Given the description of an element on the screen output the (x, y) to click on. 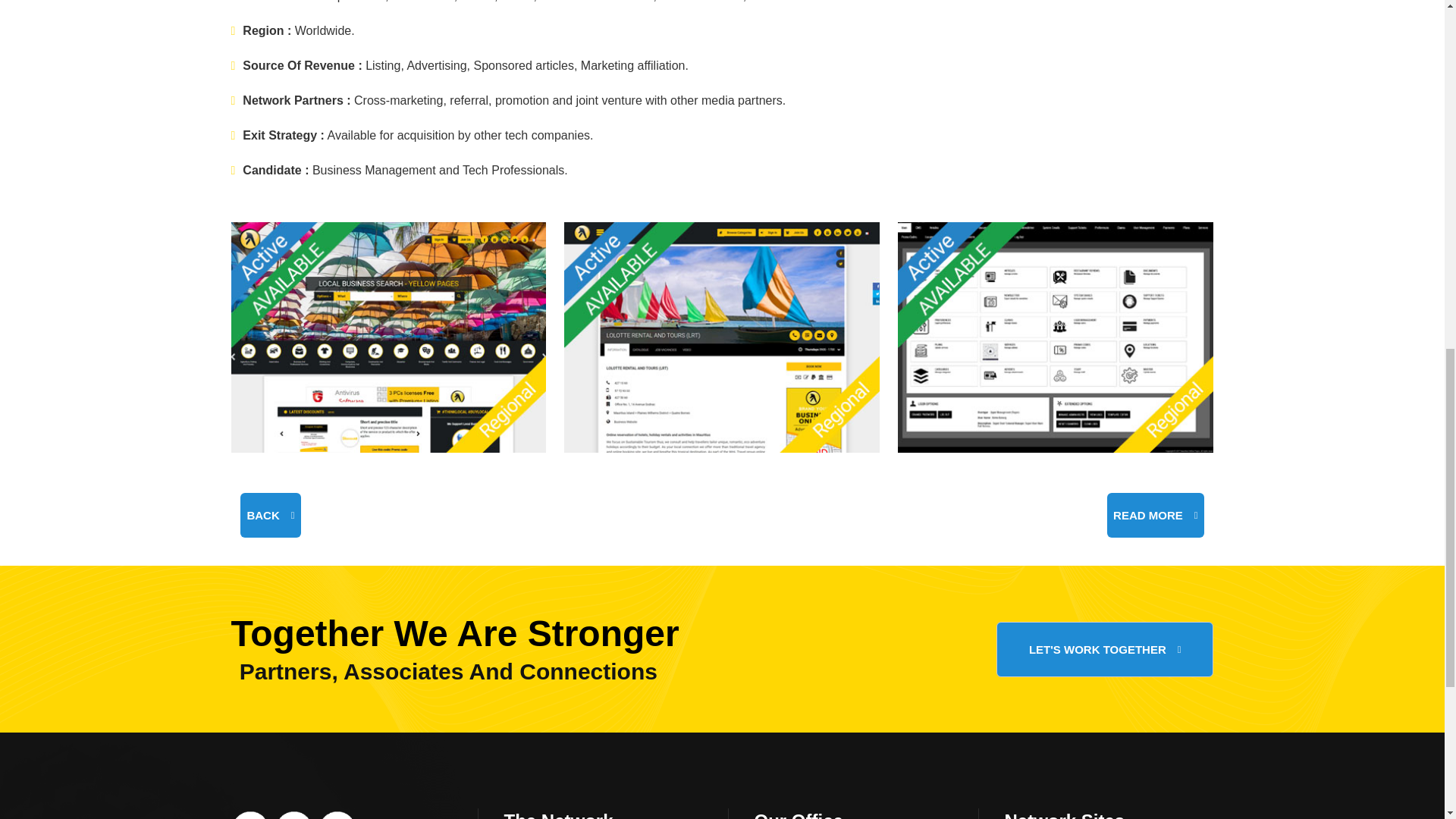
READ MORE (1155, 515)
BACK (269, 515)
LET'S WORK TOGETHER (1104, 649)
